Given the description of an element on the screen output the (x, y) to click on. 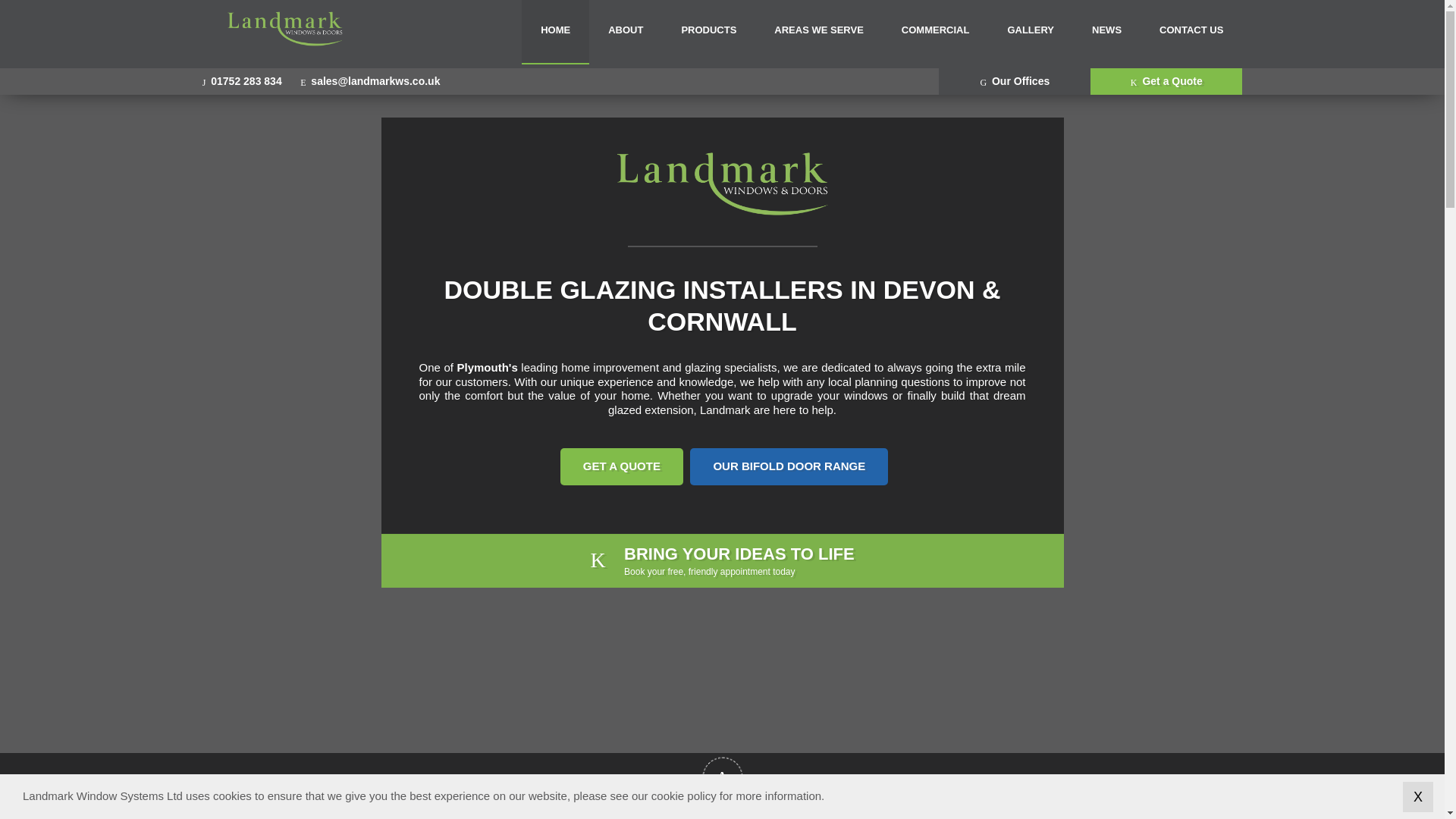
Aluminium Windows (28, 22)
COMMERCIAL (935, 32)
Contact Landmark Window Systems (369, 80)
NEWS (1106, 32)
HOME (555, 32)
Doors (491, 22)
Return to the homepage (285, 42)
AREAS WE SERVE (818, 32)
uPVC Windows (389, 22)
PRODUCTS (708, 32)
CONTACT US (1190, 32)
ABOUT (625, 32)
Call us today (242, 80)
Sliding Patio Doors (1010, 22)
